Given the description of an element on the screen output the (x, y) to click on. 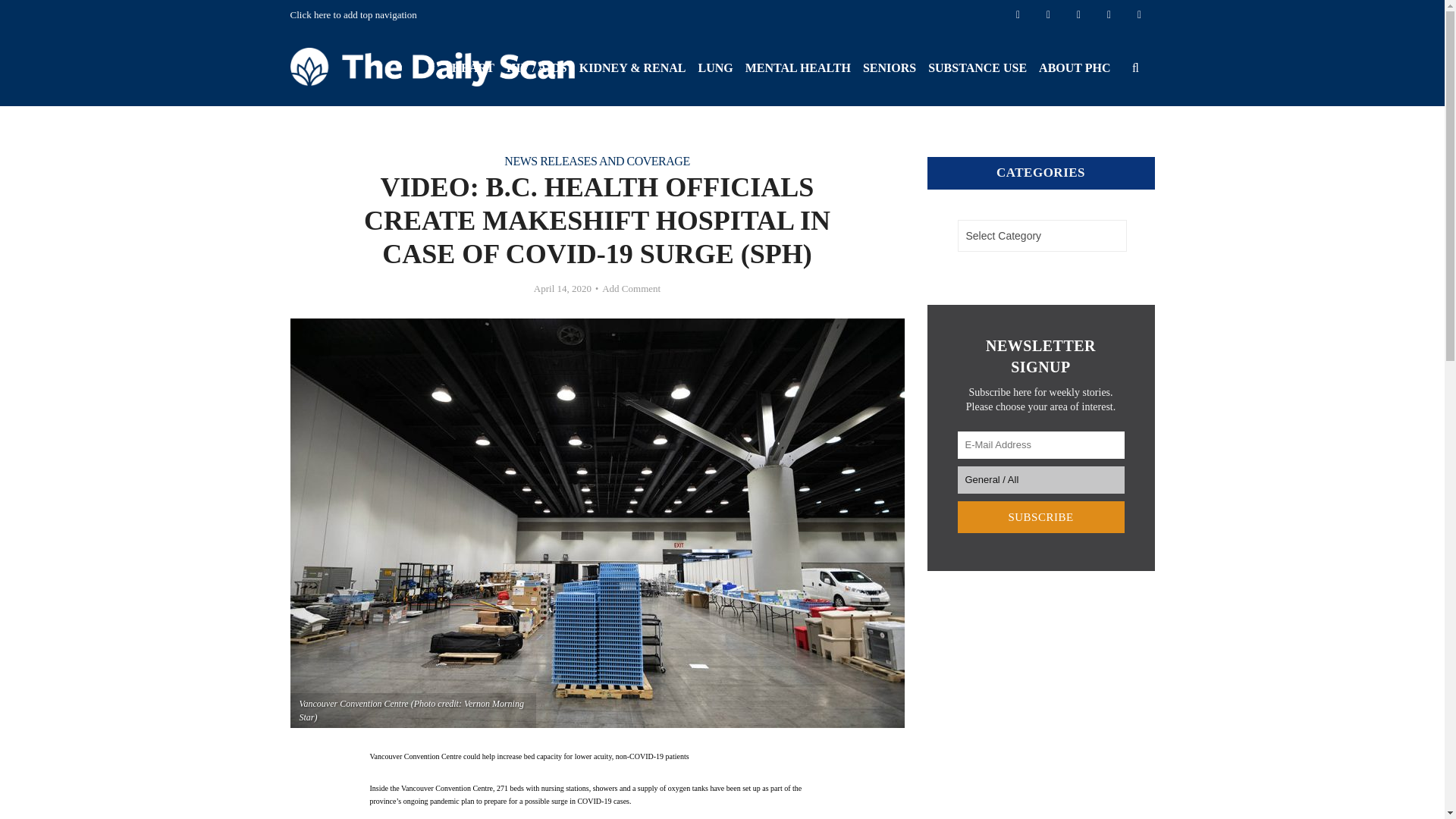
LUNG (714, 68)
Add Comment (631, 288)
HEART (472, 68)
The Daily Scan (431, 64)
NEWS RELEASES AND COVERAGE (595, 160)
Click here to add top navigation (352, 14)
SUBSTANCE USE (976, 68)
Subscribe (1040, 517)
MENTAL HEALTH (798, 68)
ABOUT PHC (1074, 68)
Subscribe (1040, 517)
SENIORS (889, 68)
